Given the description of an element on the screen output the (x, y) to click on. 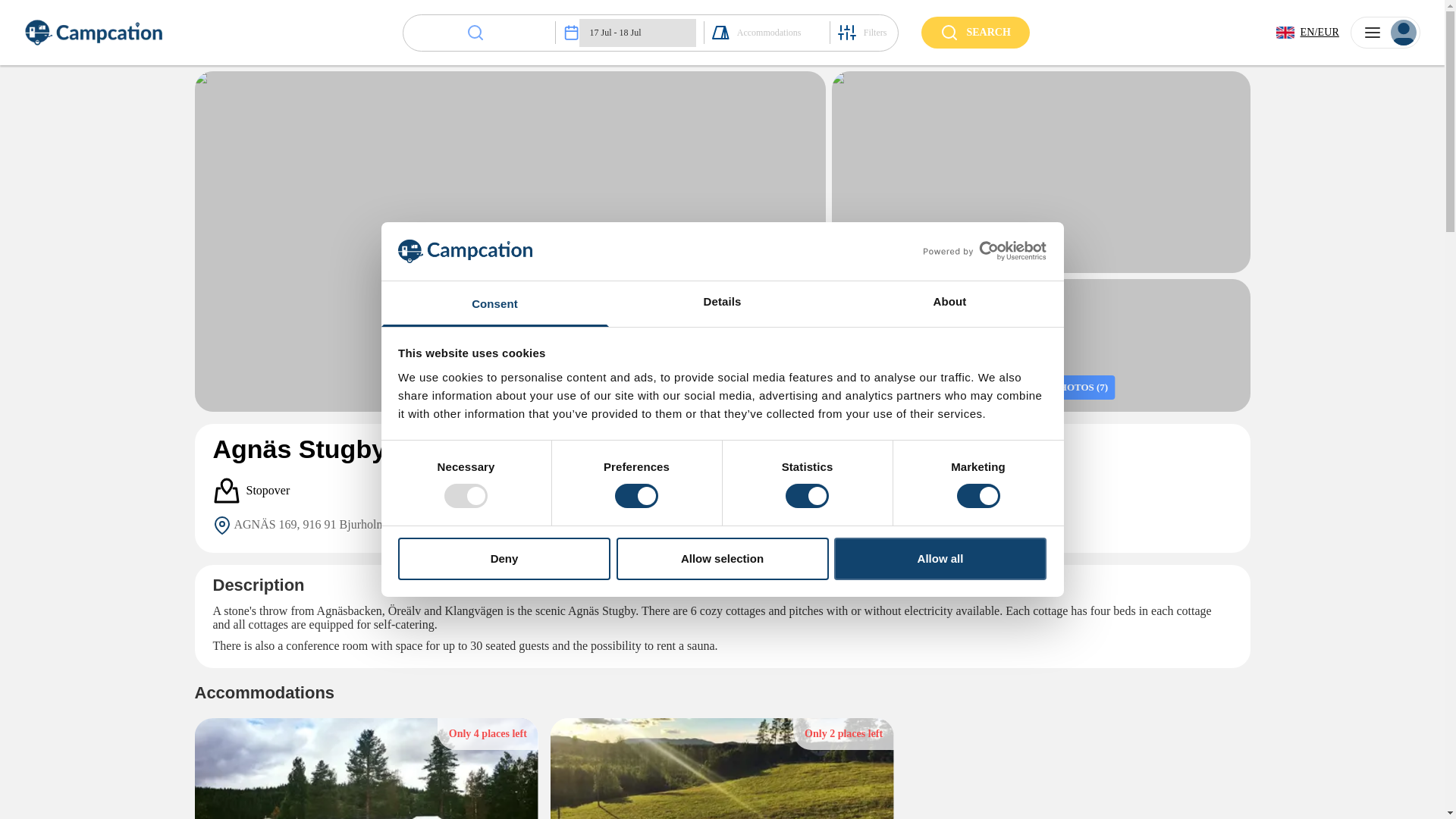
Consent (494, 303)
Details (721, 303)
17 Jul - 18 Jul (637, 31)
Deny (503, 558)
About (948, 303)
